Given the description of an element on the screen output the (x, y) to click on. 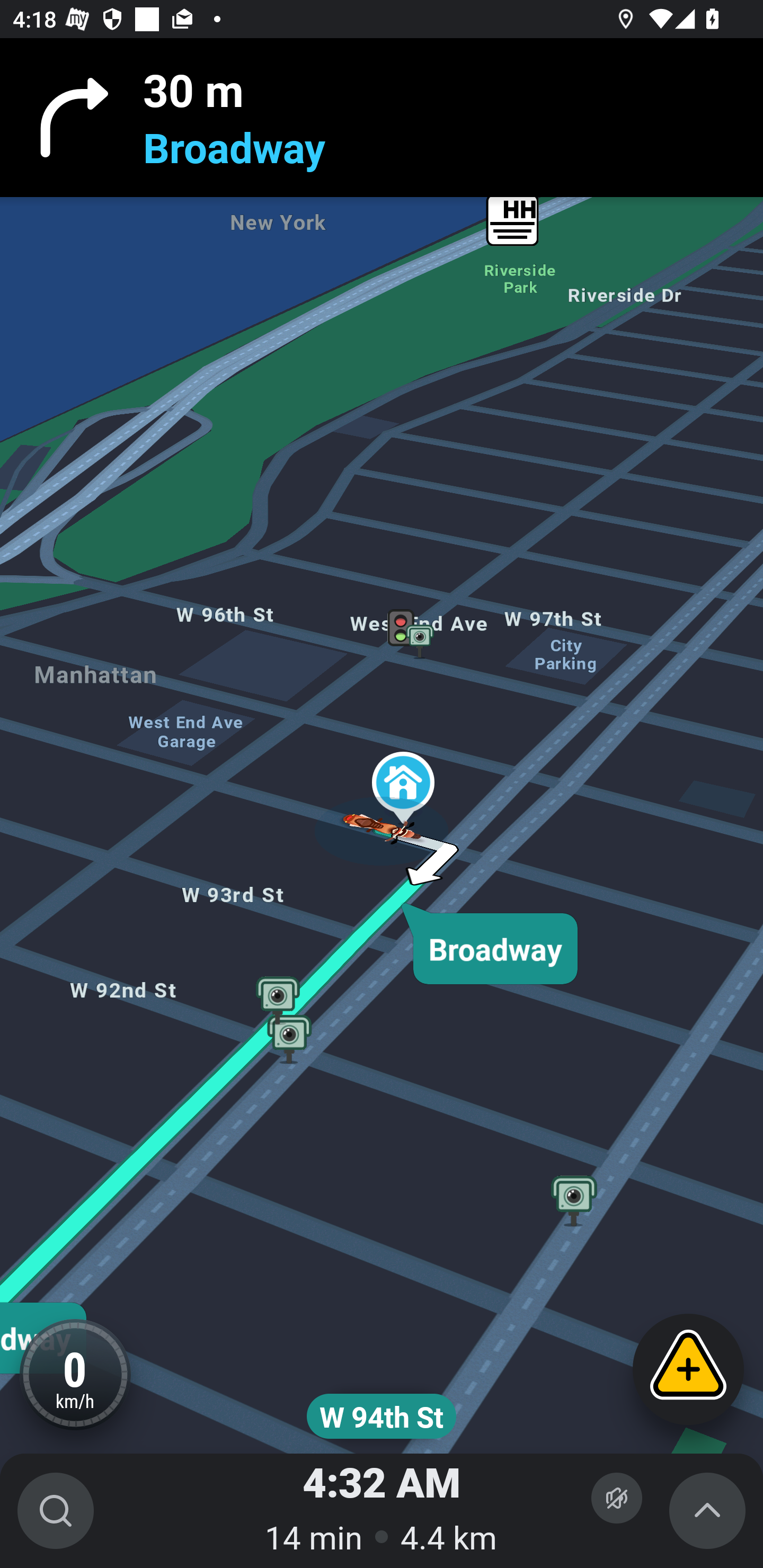
30 m Broadway (381, 117)
4:32 AM 14 min 4.4 km (381, 1510)
